Given the description of an element on the screen output the (x, y) to click on. 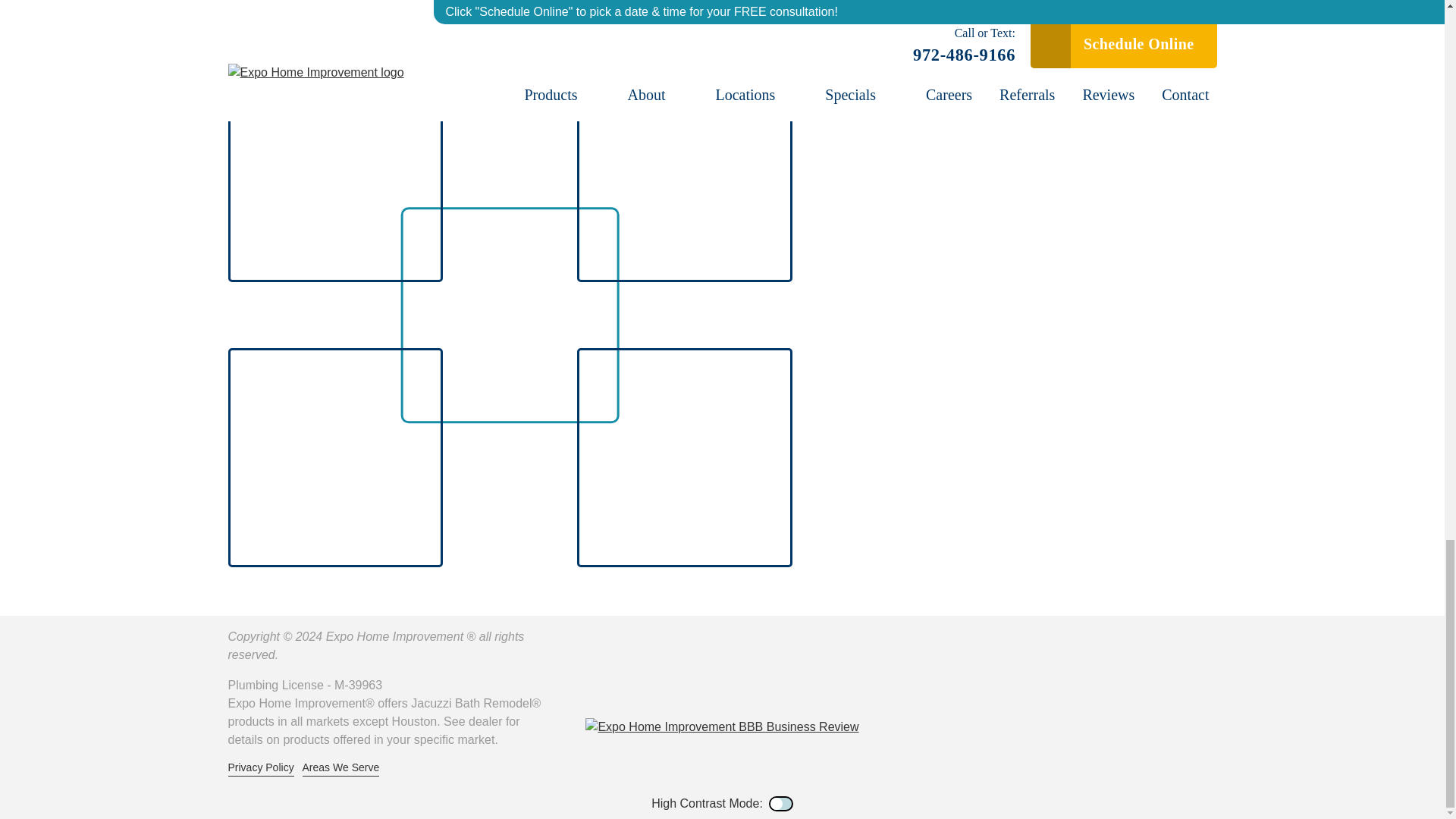
YouTube (722, 686)
Facebook (646, 686)
LinkedIn (759, 686)
Instagram (797, 686)
